Given the description of an element on the screen output the (x, y) to click on. 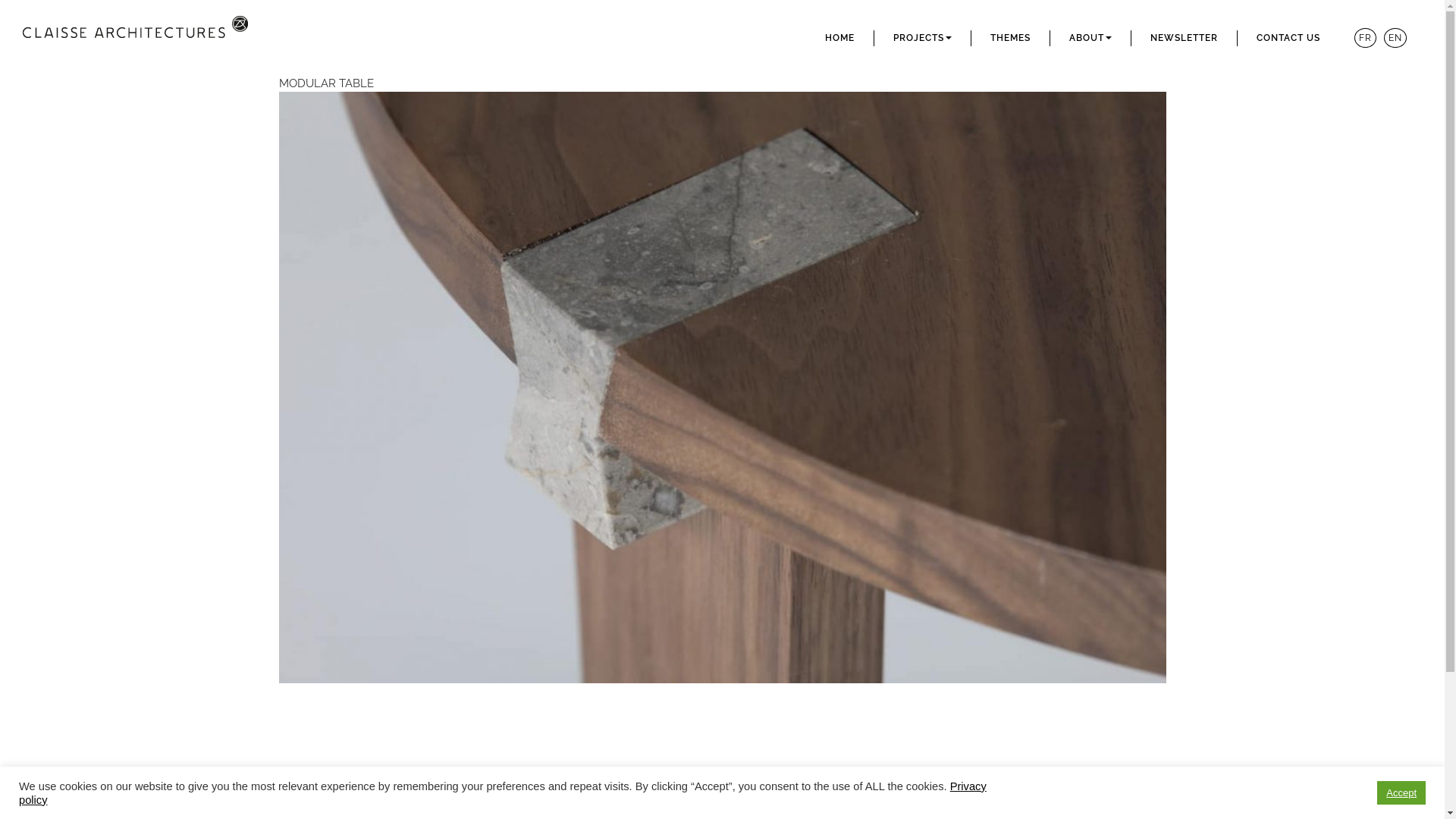
Privacy policy Element type: text (502, 792)
ABOUT Element type: text (1090, 38)
EN Element type: text (1394, 37)
HOME Element type: text (839, 38)
Claisse Architectures Element type: hover (151, 34)
Accept Element type: text (1401, 792)
FR Element type: text (1365, 37)
PROJECTS Element type: text (922, 38)
NEWSLETTER Element type: text (1183, 38)
CONTACT US Element type: text (1288, 38)
THEMES Element type: text (1010, 38)
